Given the description of an element on the screen output the (x, y) to click on. 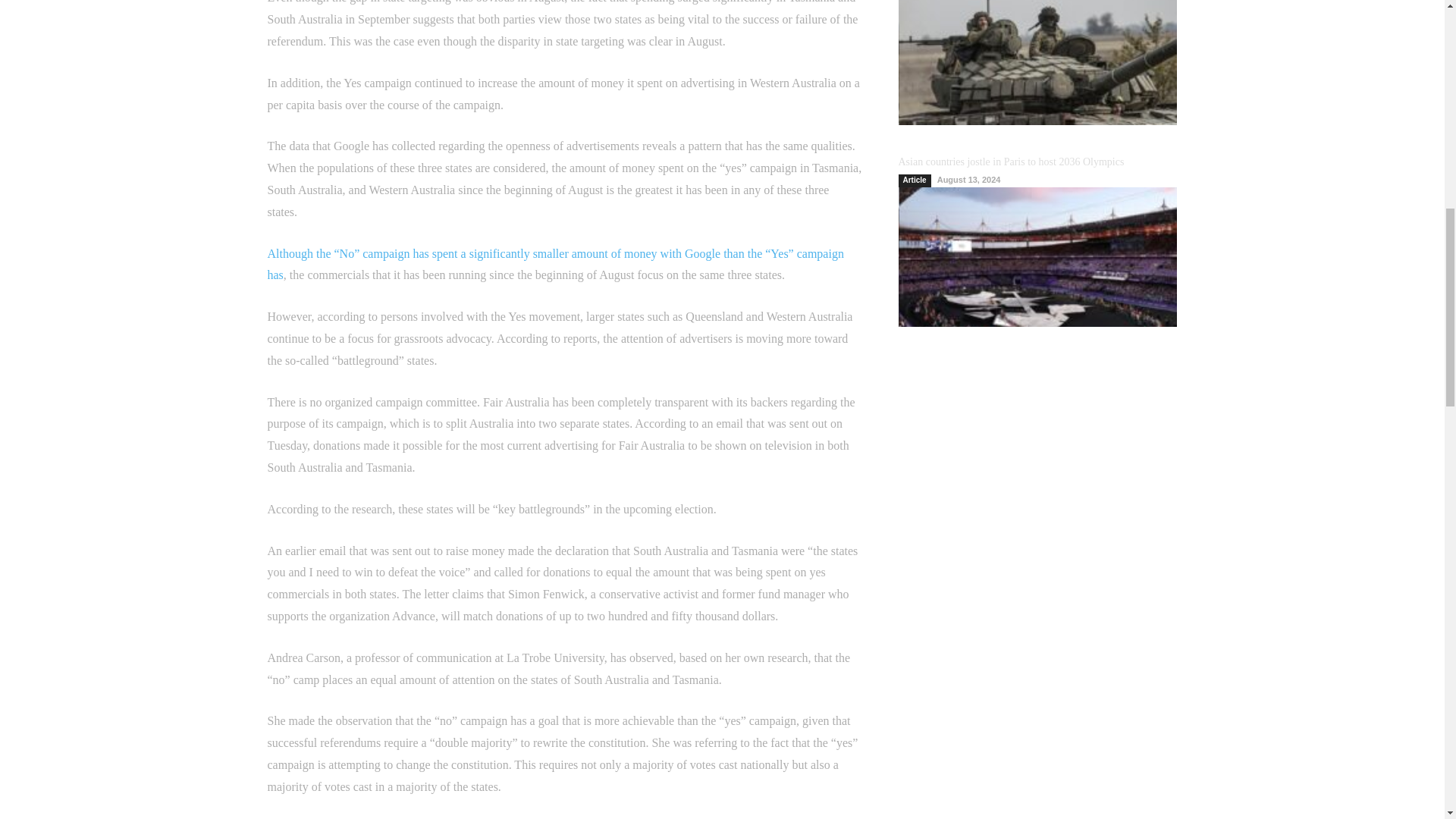
Asian countries jostle in Paris to host 2036 Olympics (1011, 161)
Asian countries jostle in Paris to host 2036 Olympics (1037, 256)
1,000 sq km of Russian territory in our control: Ukraine (1037, 62)
